Given the description of an element on the screen output the (x, y) to click on. 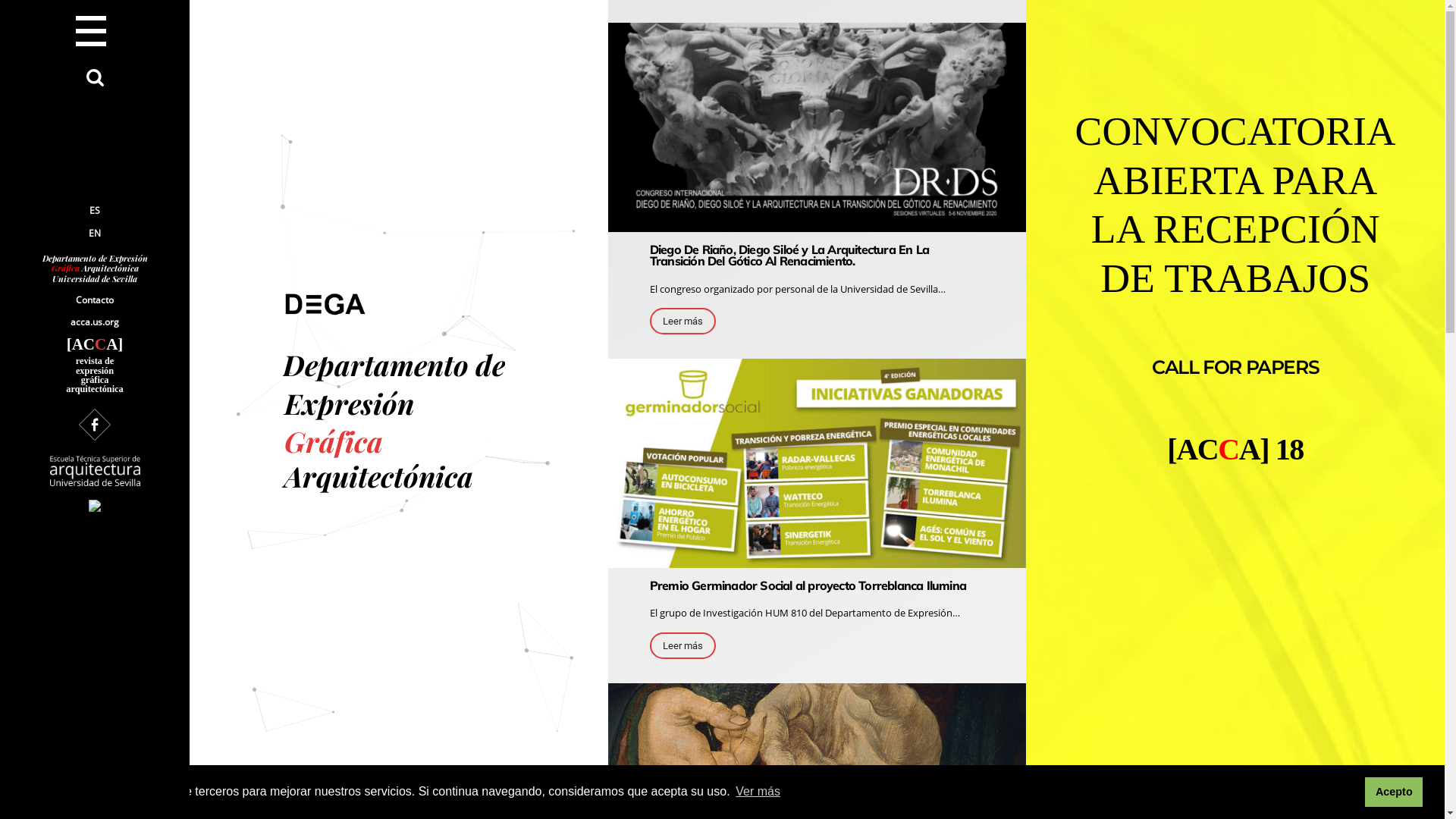
[ACCA] Element type: text (94, 344)
EN Element type: text (94, 233)
Acepto Element type: text (1393, 791)
[ACCA] 18 Element type: text (1235, 449)
Contacto Element type: text (94, 300)
Premio Germinador Social al proyecto Torreblanca Ilumina Element type: text (807, 585)
Premio Germinador Social al proyecto Torreblanca Ilumina Element type: hover (817, 560)
CALL FOR PAPERS Element type: text (1234, 366)
acca.us.org Element type: text (94, 322)
ES Element type: text (94, 210)
